Given the description of an element on the screen output the (x, y) to click on. 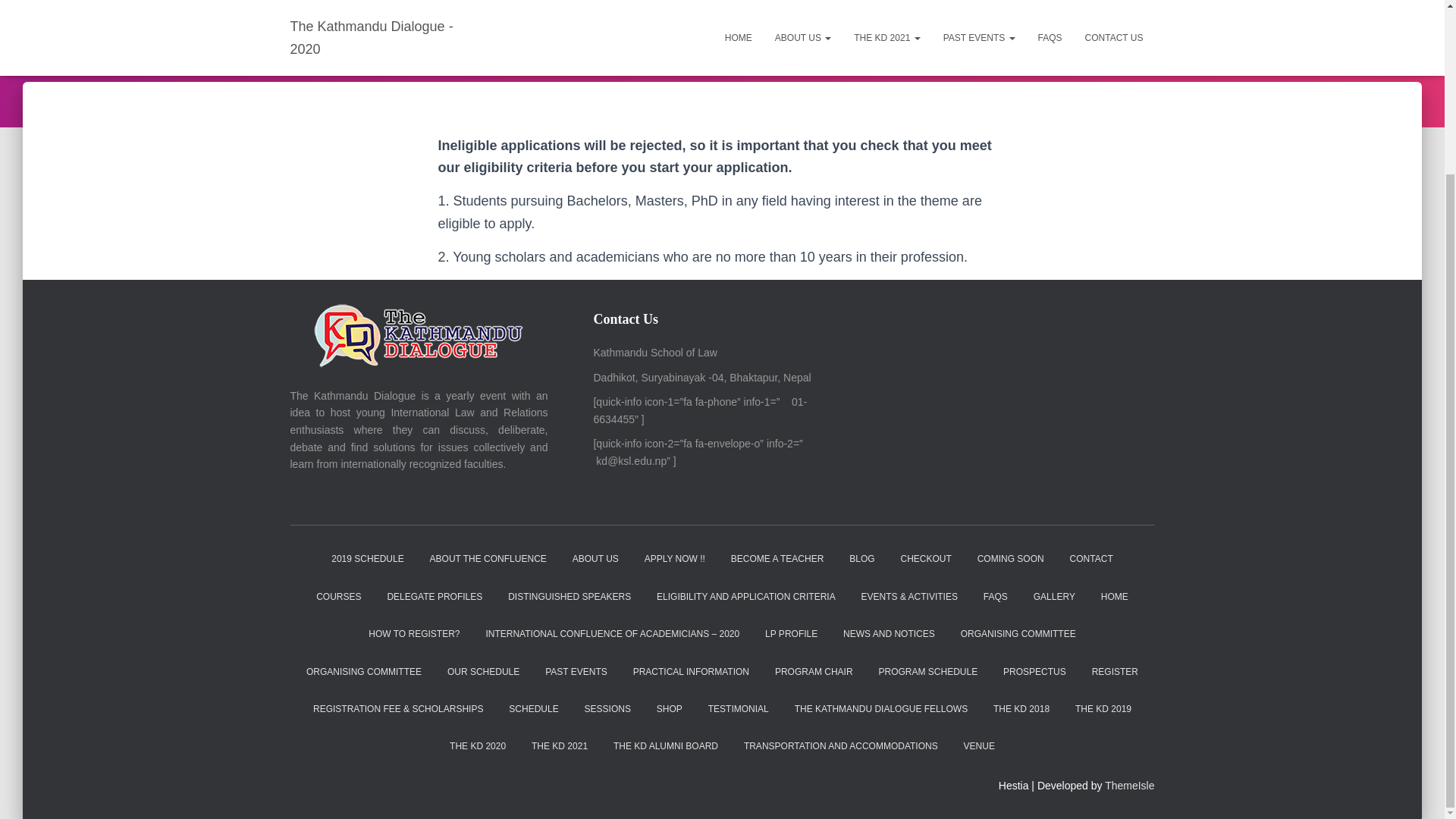
2019 SCHEDULE (367, 559)
FAQS (995, 596)
DISTINGUISHED SPEAKERS (569, 596)
ELIGIBILITY AND APPLICATION CRITERIA (746, 596)
COURSES (338, 596)
DELEGATE PROFILES (434, 596)
BLOG (861, 559)
ABOUT THE CONFLUENCE (488, 559)
COMING SOON (1010, 559)
ABOUT US (595, 559)
